Given the description of an element on the screen output the (x, y) to click on. 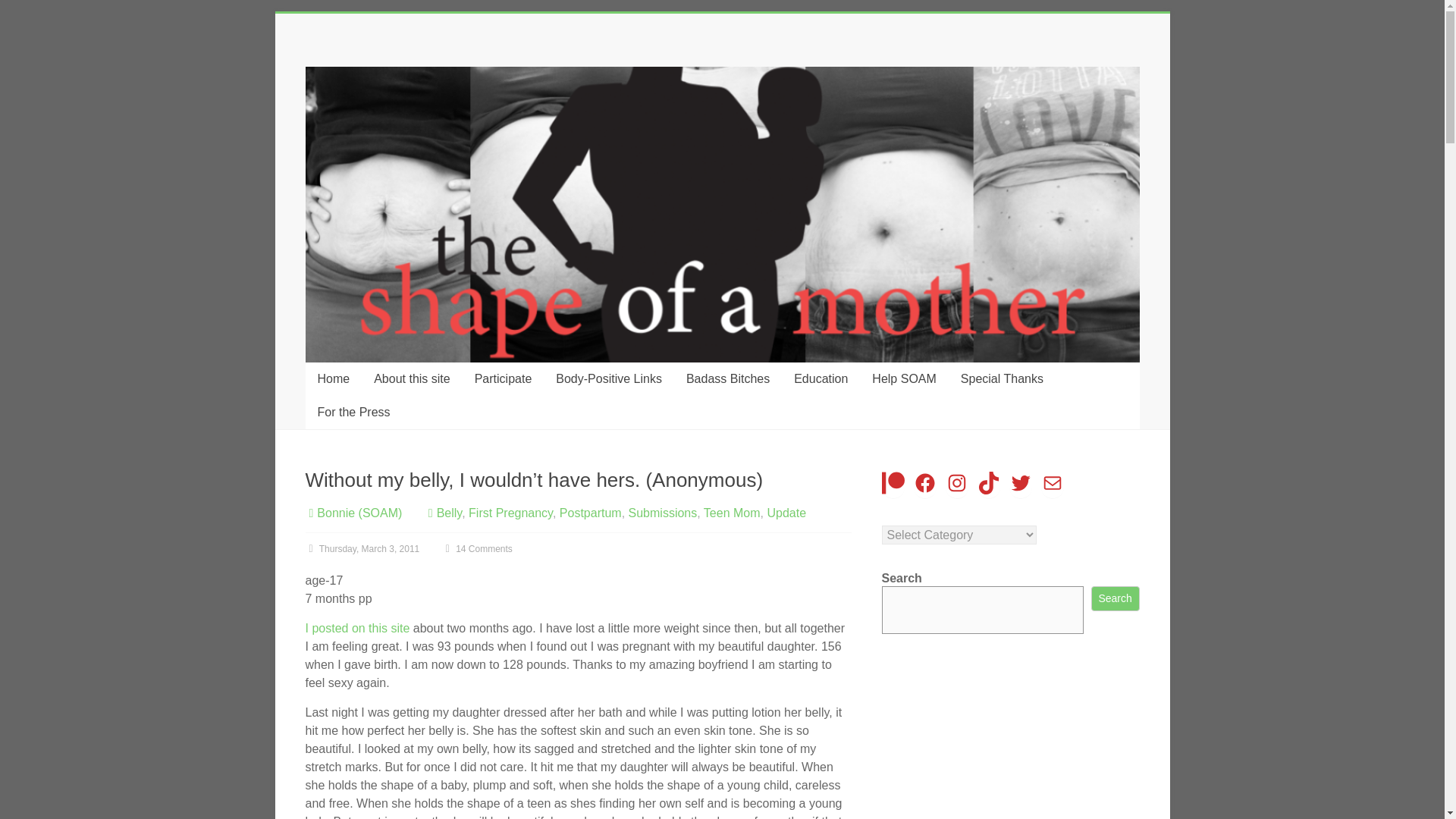
About this site (412, 378)
Submissions (662, 512)
Thursday, March 3, 2011 (361, 548)
Special Thanks (1002, 378)
Teen Mom (731, 512)
Belly (449, 512)
Badass Bitches (727, 378)
Body-Positive Links (608, 378)
I posted on this site (356, 627)
